Given the description of an element on the screen output the (x, y) to click on. 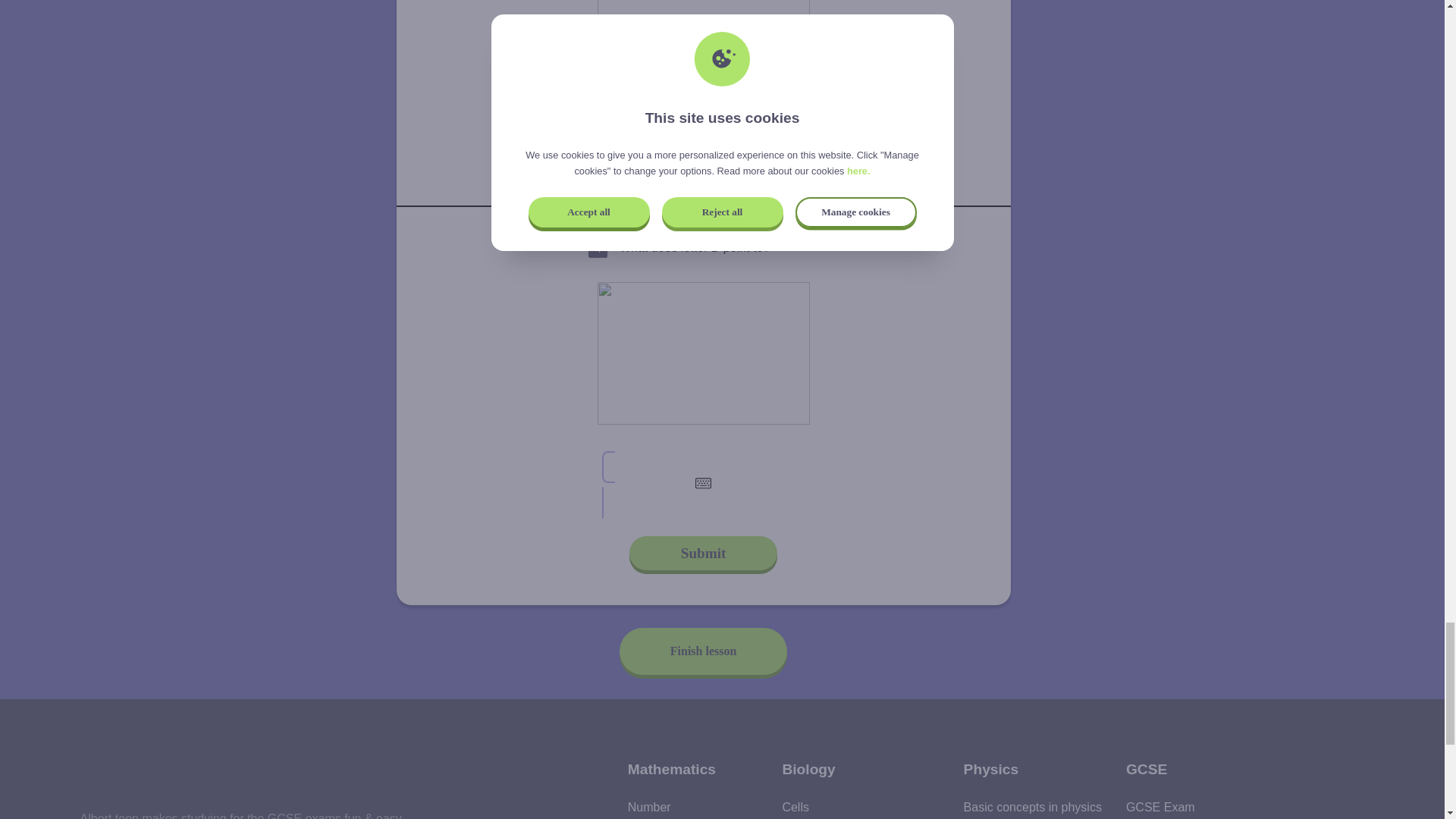
Submit (702, 553)
Finish lesson (703, 651)
Submit (702, 153)
